Given the description of an element on the screen output the (x, y) to click on. 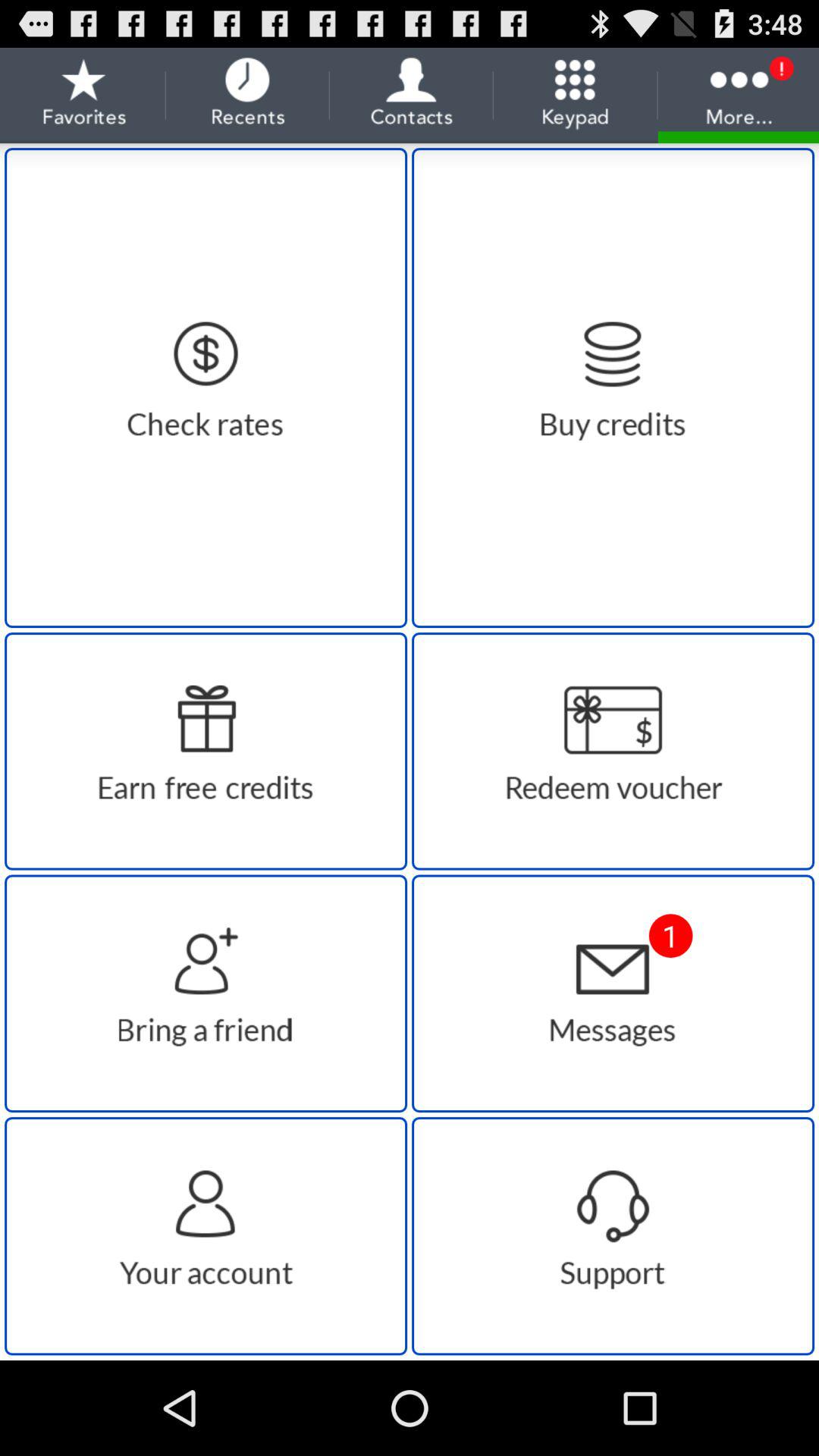
add a friend (205, 993)
